Given the description of an element on the screen output the (x, y) to click on. 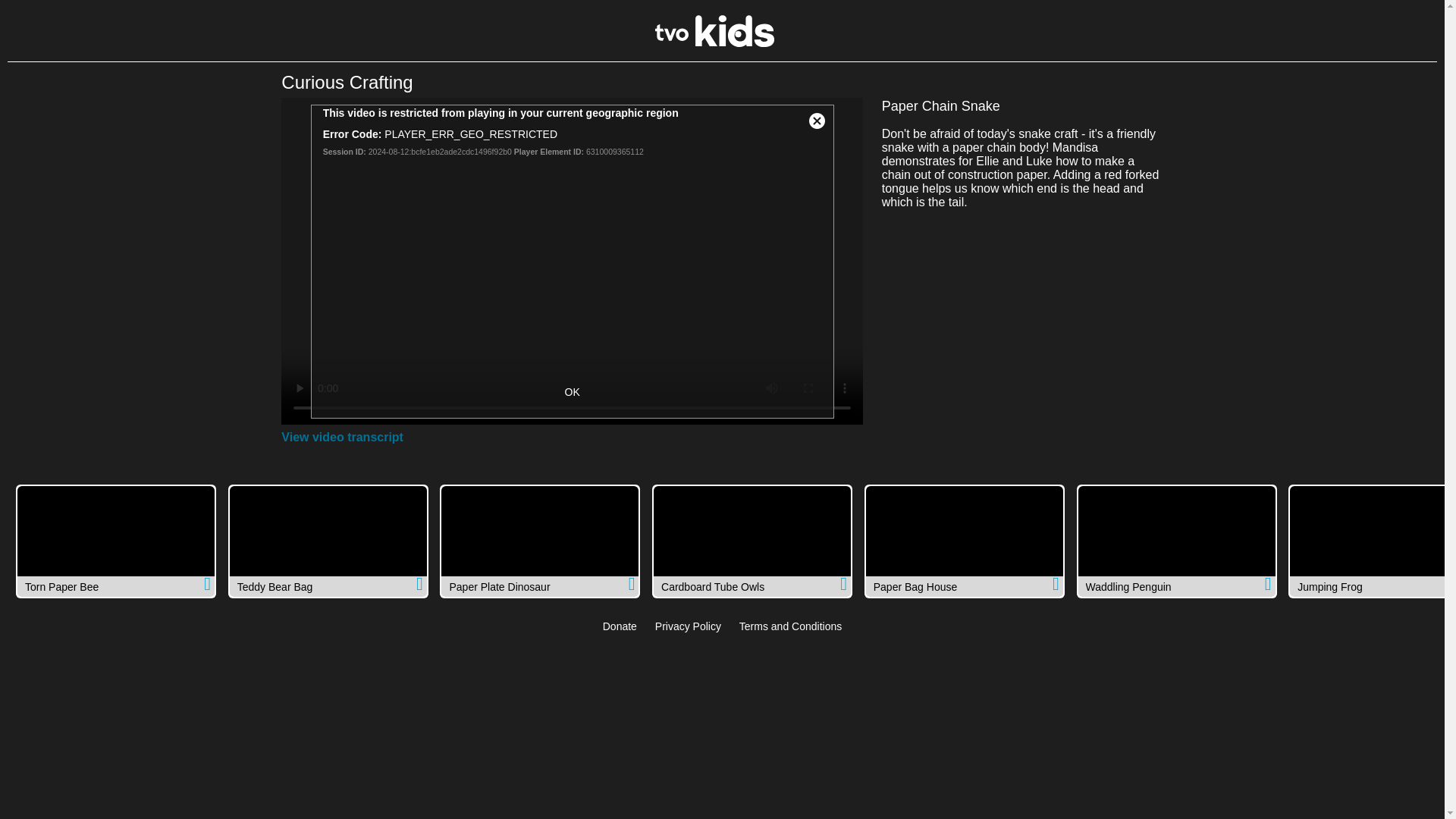
Paper Plate Dinosaur (539, 541)
Cardboard Tube Owls (751, 541)
Waddling Penguin (1176, 541)
View video transcript (342, 437)
OK (571, 392)
Torn Paper Bee (115, 541)
Teddy Bear Bag (328, 541)
Paper Bag House (964, 541)
Close Modal Dialog (817, 121)
